Given the description of an element on the screen output the (x, y) to click on. 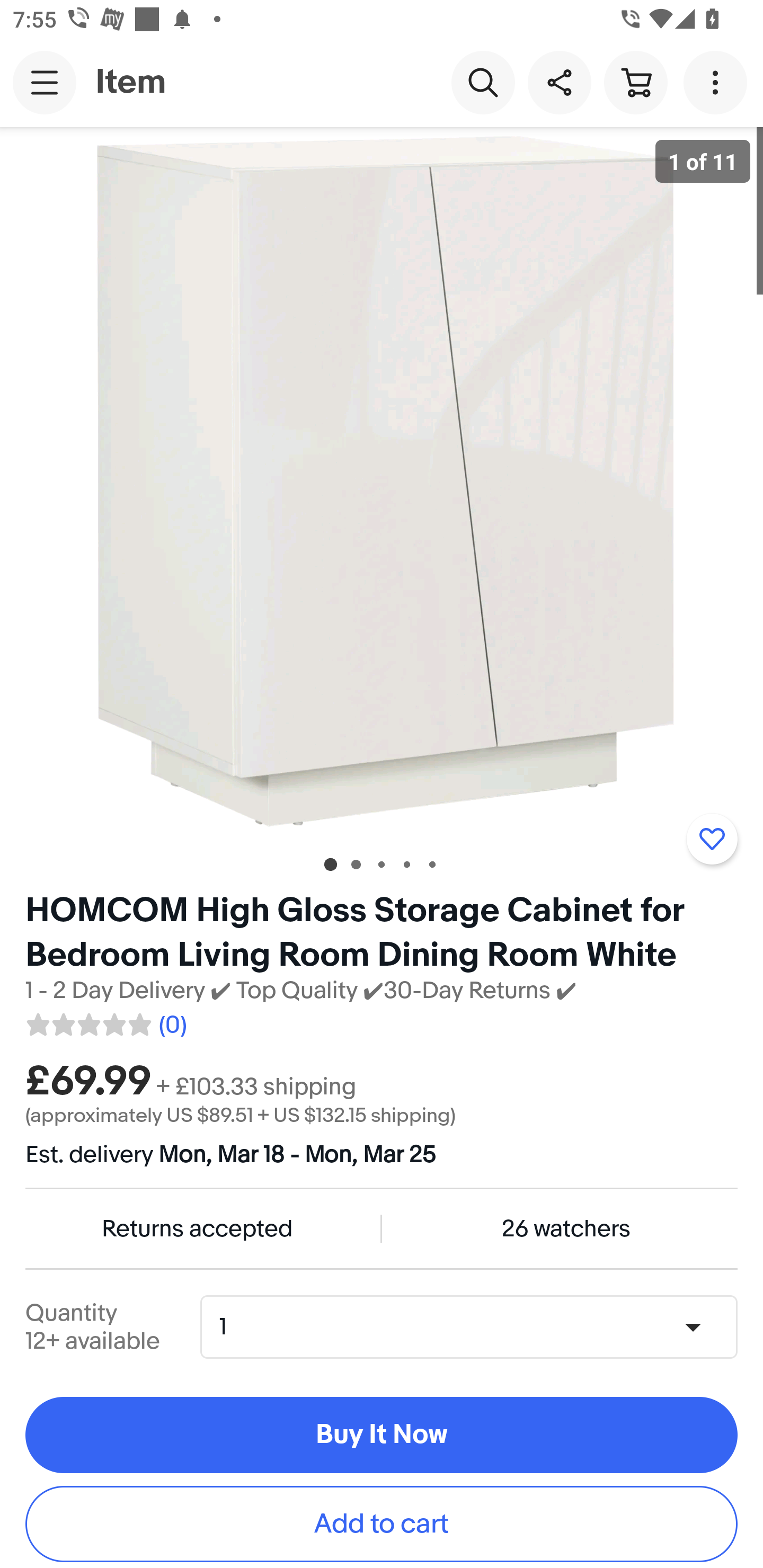
Main navigation, open (44, 82)
Search (482, 81)
Share this item (559, 81)
Cart button shopping cart (635, 81)
More options (718, 81)
Item image 1 of 11 (381, 482)
Add to watchlist (711, 838)
1 - 2 Day Delivery ✔ Top Quality ✔30-Day Returns ✔ (300, 990)
0 reviews. Average rating 0.0 out of five 0.0 (0) (105, 1021)
Quantity,1,12+ available 1 (474, 1326)
Buy It Now (381, 1435)
Add to cart (381, 1523)
